Given the description of an element on the screen output the (x, y) to click on. 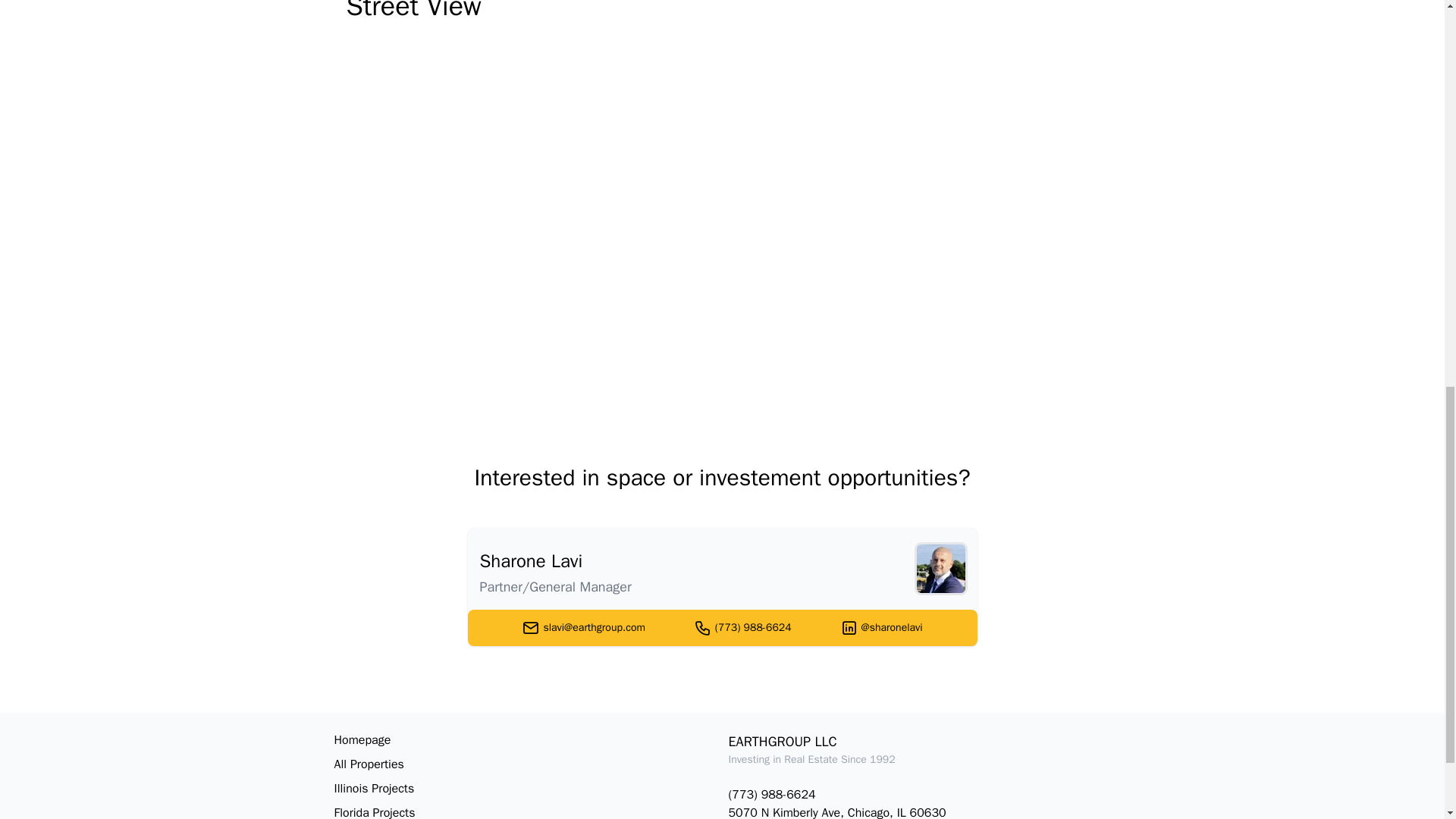
Homepage (524, 740)
All Properties (524, 764)
Illinois Projects (524, 788)
Florida Projects (524, 811)
5070 N Kimberly Ave, Chicago, IL 60630 (918, 811)
